Given the description of an element on the screen output the (x, y) to click on. 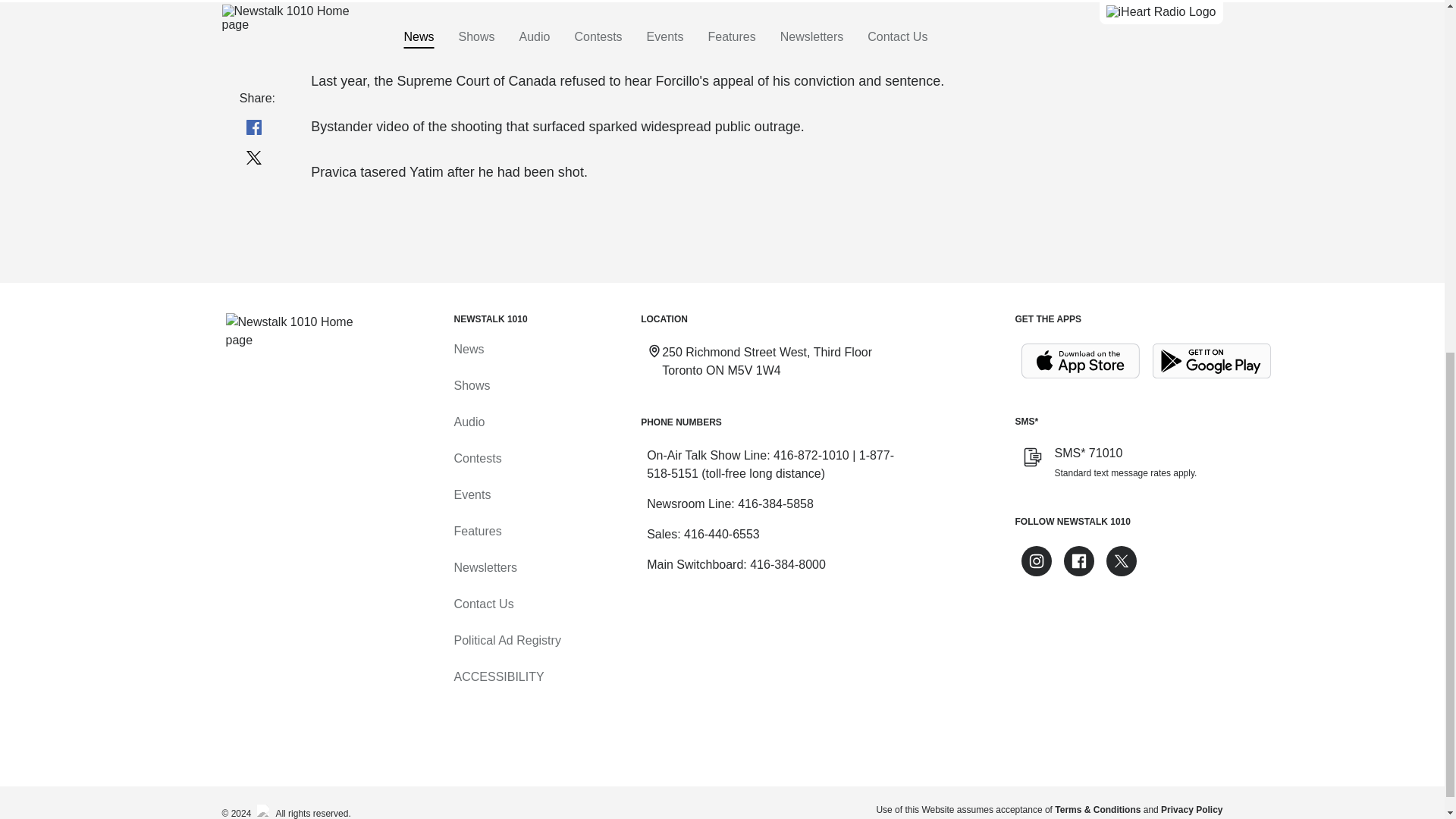
Shows (470, 385)
Privacy Policy (1191, 809)
News (467, 349)
Audio (468, 421)
Accessibility (497, 676)
Events (471, 494)
Political Ad Registry (506, 640)
Get it on Google Play (1212, 361)
Contact Us (482, 603)
416-384-8000 (787, 563)
ACCESSIBILITY (497, 676)
416-384-5858 (775, 503)
Download on the App Store (1080, 361)
Newsletters (484, 567)
Features (476, 530)
